Given the description of an element on the screen output the (x, y) to click on. 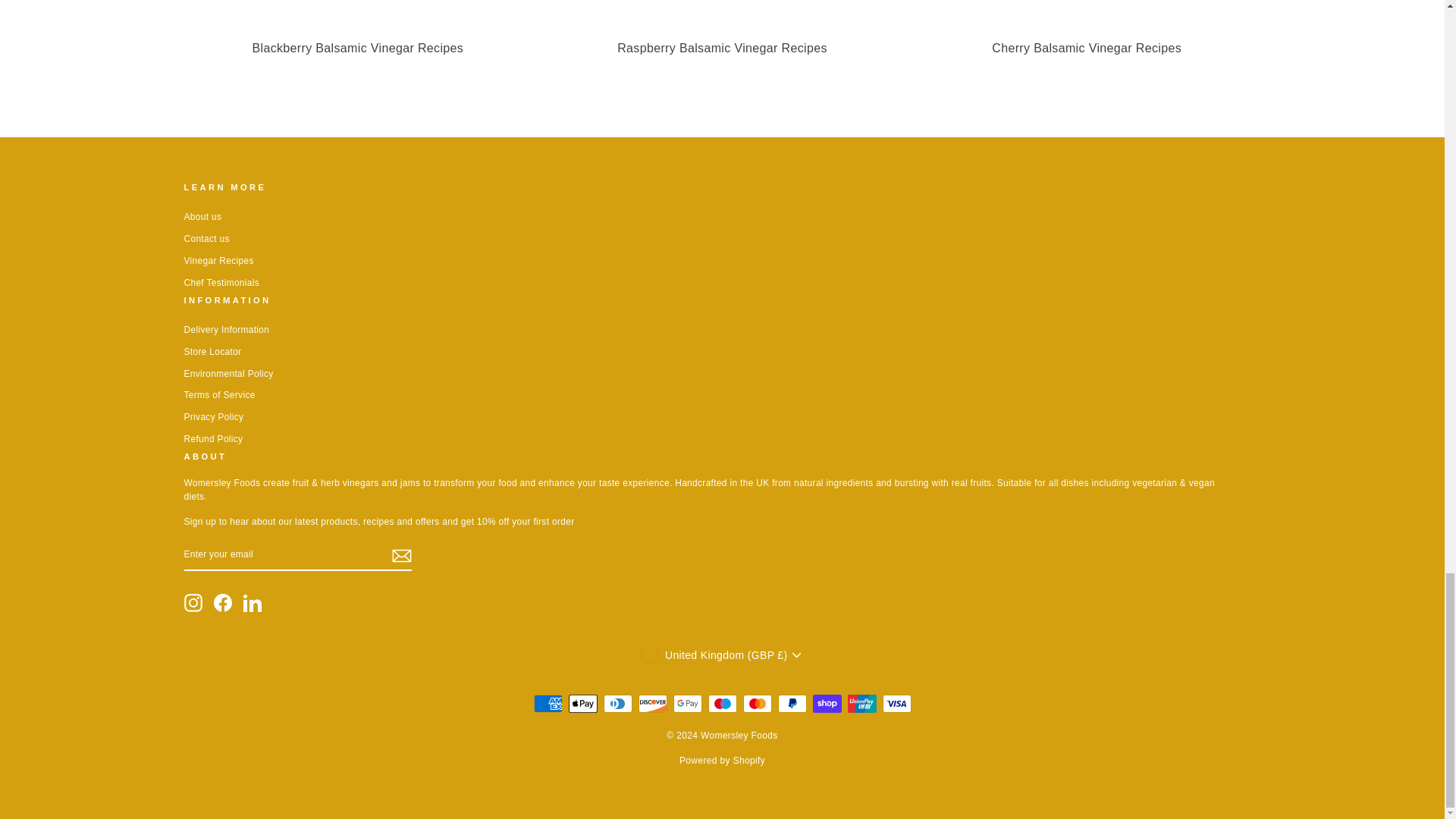
Womersley Foods on Facebook (222, 602)
instagram (192, 602)
Womersley Foods on Instagram (192, 602)
American Express (548, 703)
Apple Pay (582, 703)
icon-email (400, 556)
Diners Club (617, 703)
Womersley Foods on LinkedIn (251, 602)
